Given the description of an element on the screen output the (x, y) to click on. 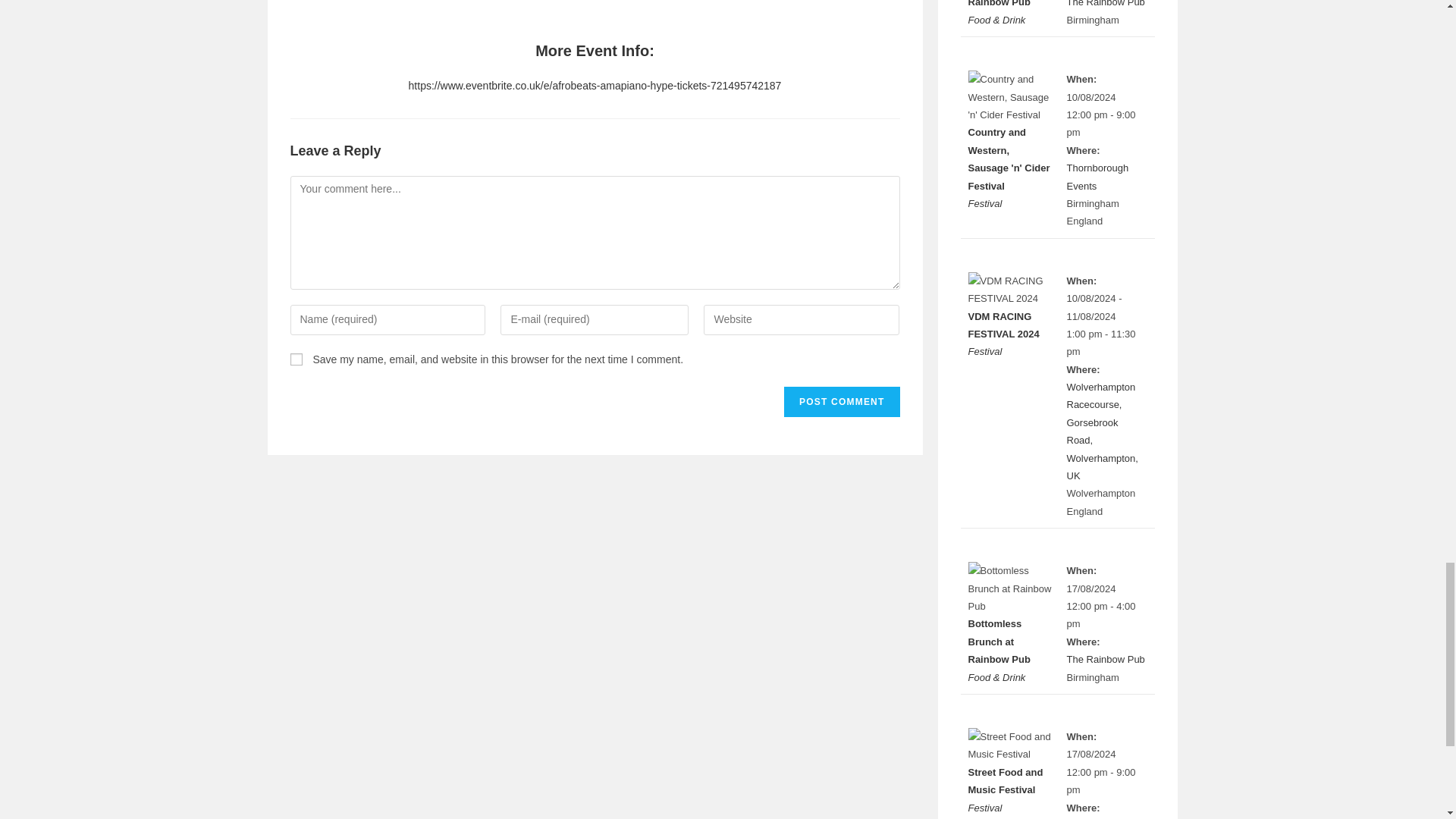
yes (295, 358)
Post Comment (841, 401)
Post Comment (841, 401)
